Given the description of an element on the screen output the (x, y) to click on. 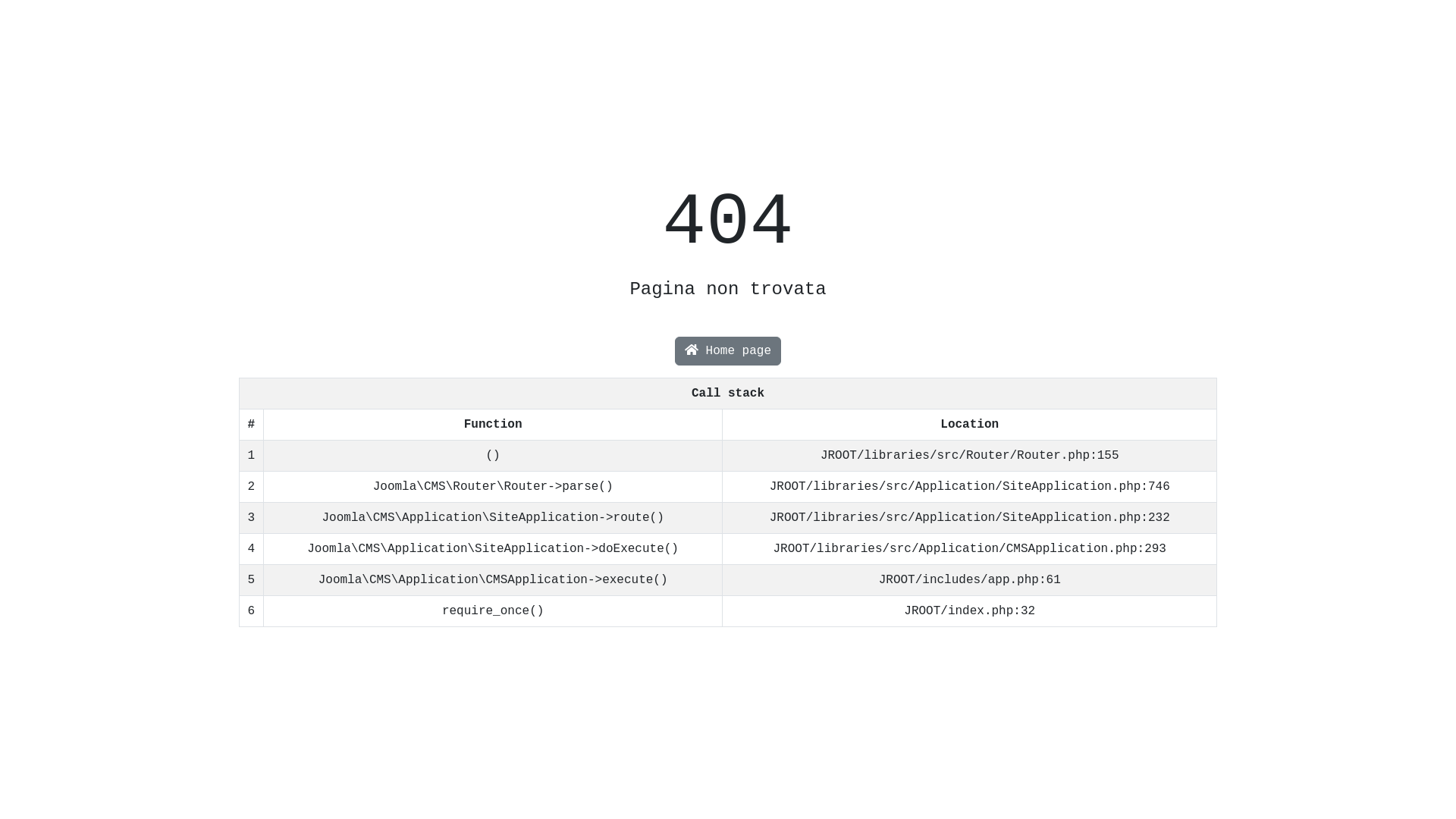
Home page Element type: text (727, 350)
